Given the description of an element on the screen output the (x, y) to click on. 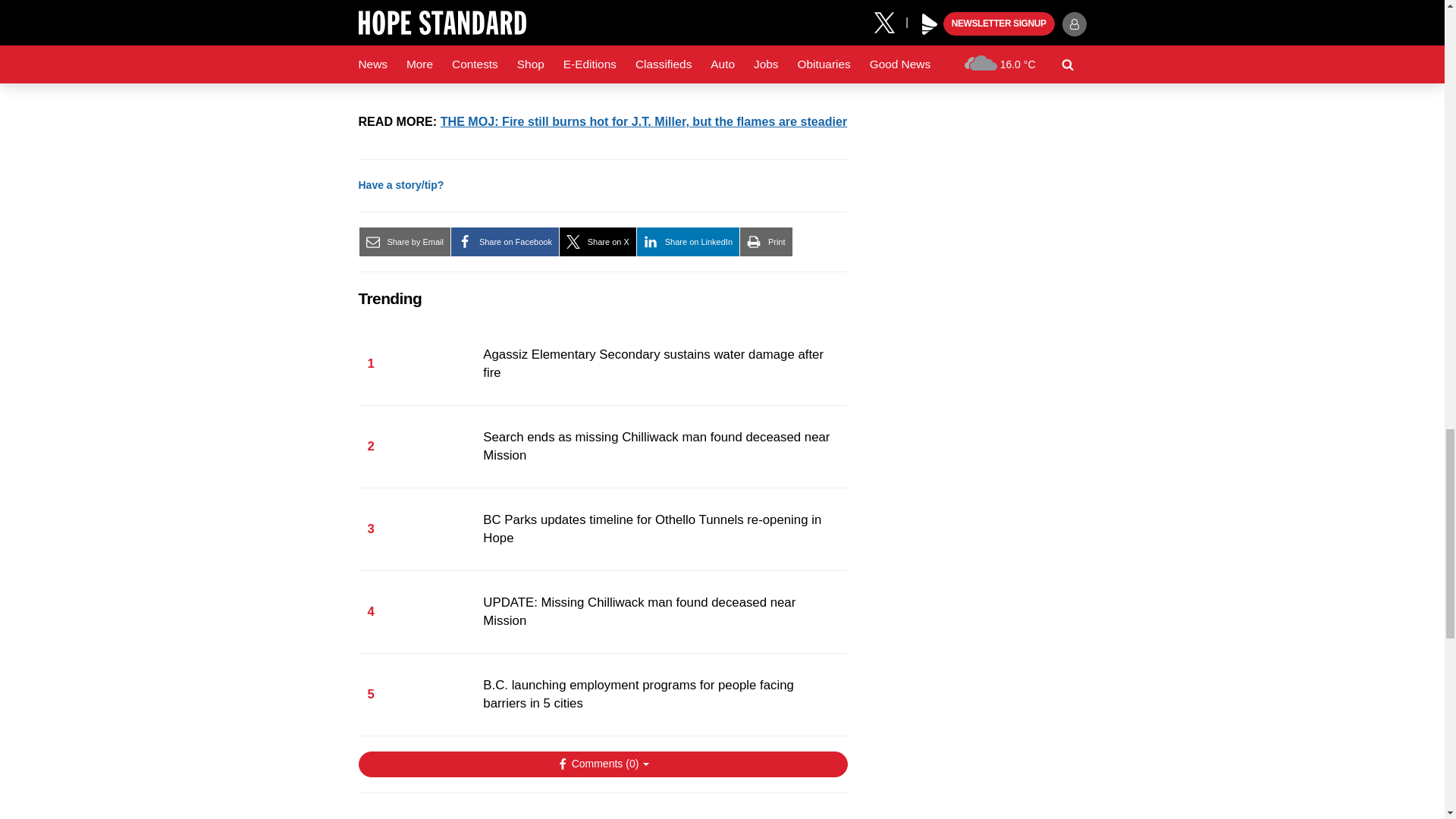
Show Comments (602, 764)
3rd party ad content (602, 813)
